Given the description of an element on the screen output the (x, y) to click on. 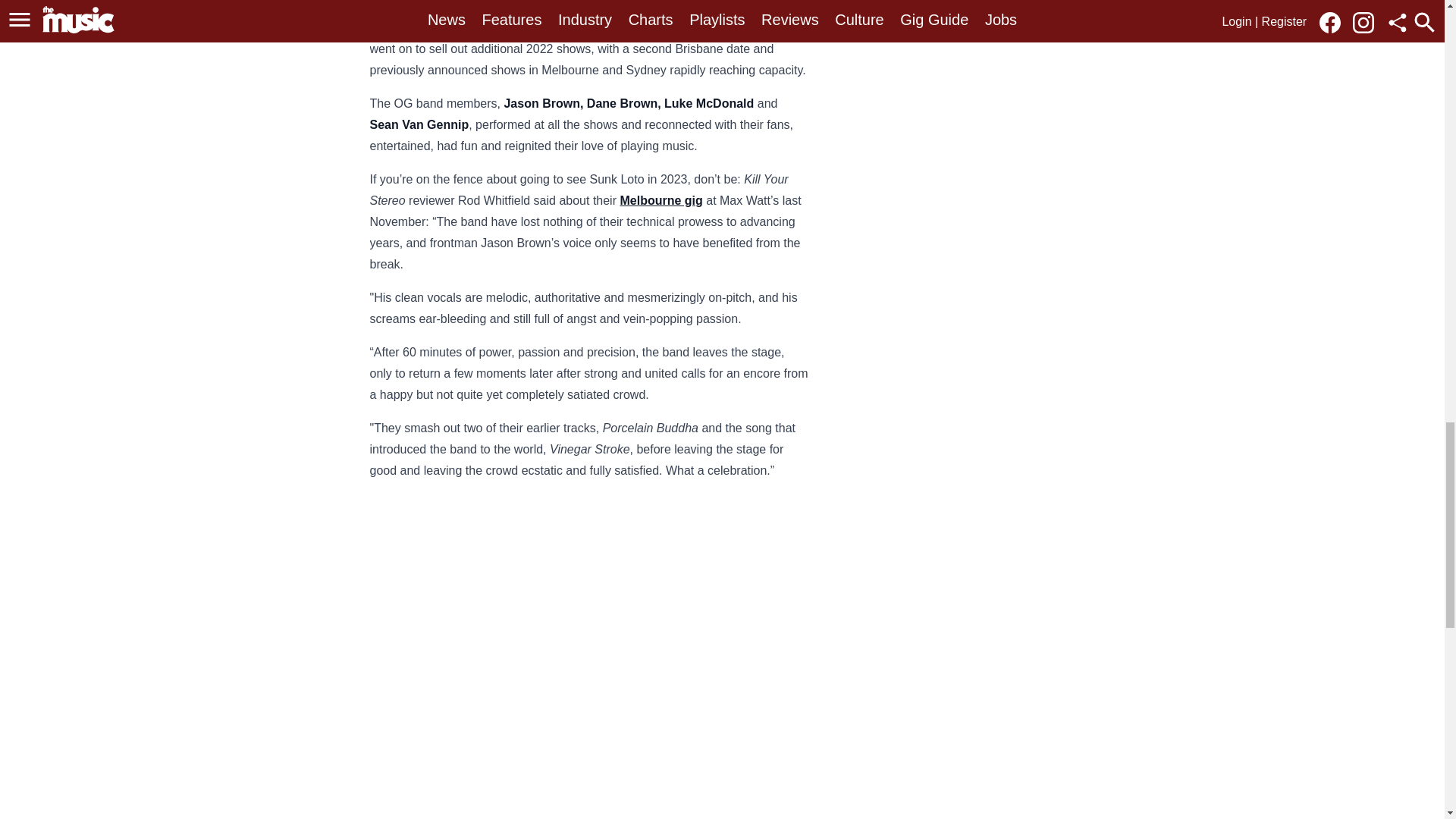
reunited (507, 6)
Melbourne gig (660, 200)
